Given the description of an element on the screen output the (x, y) to click on. 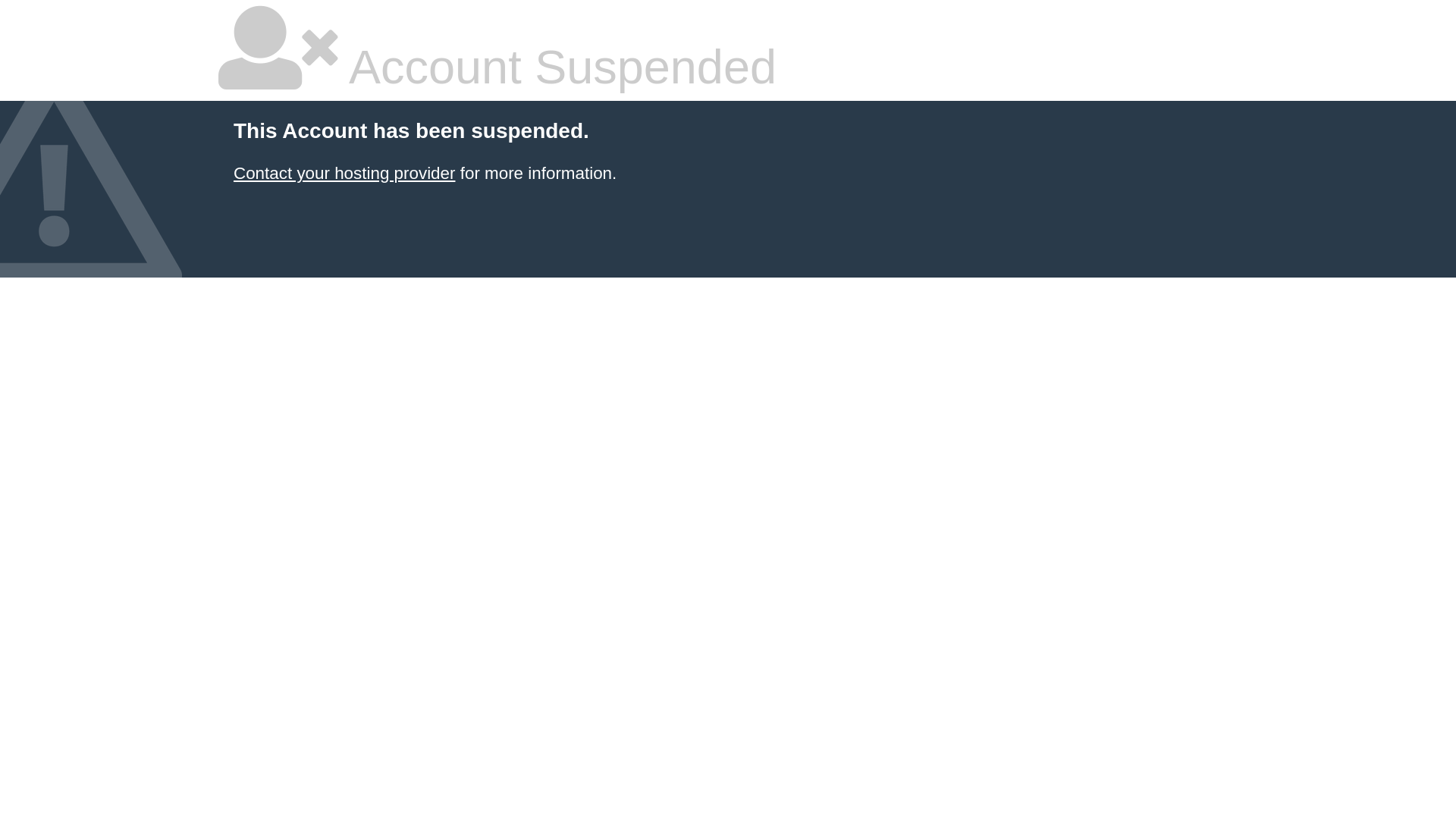
Contact your hosting provider Element type: text (344, 172)
